Given the description of an element on the screen output the (x, y) to click on. 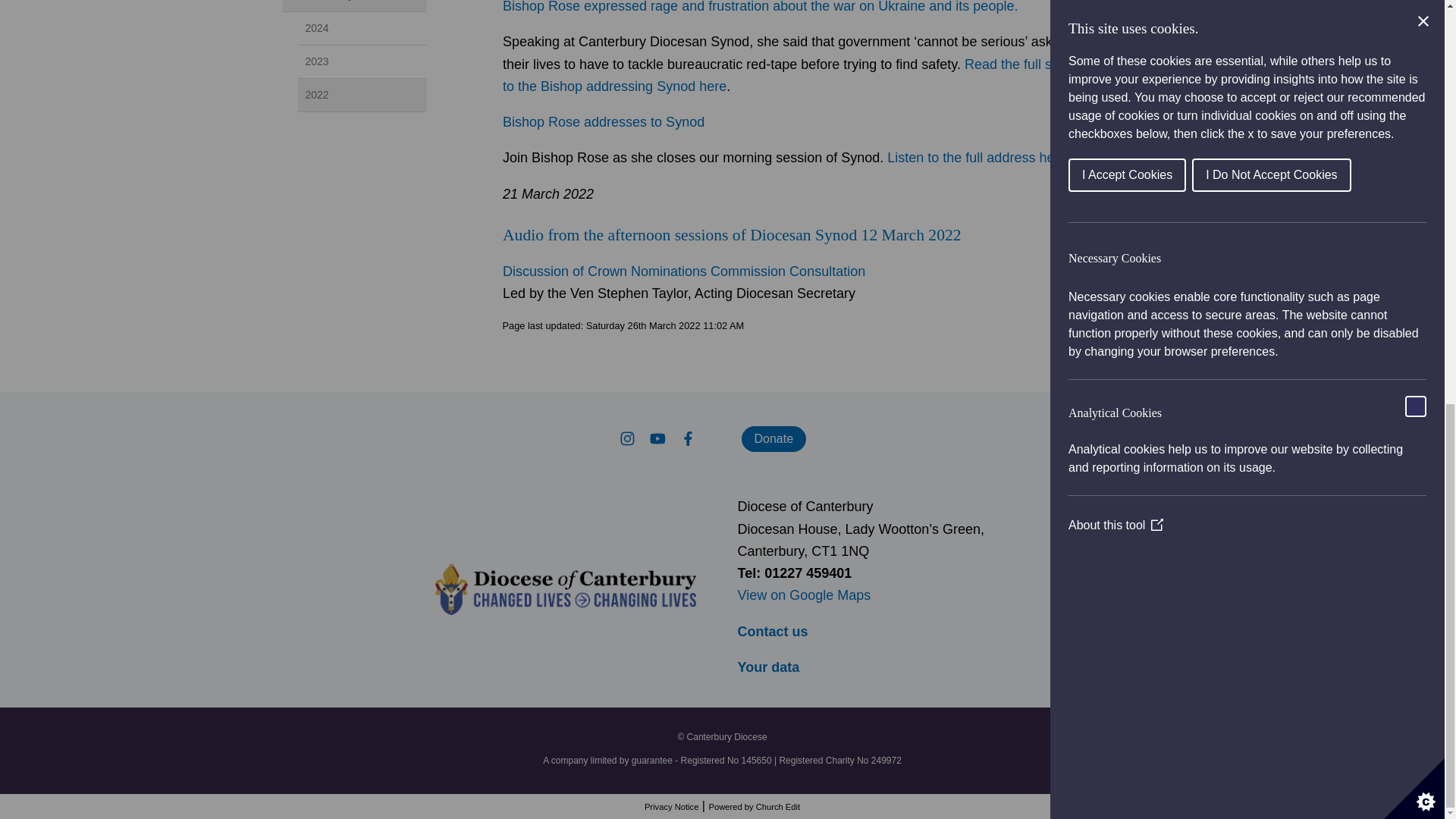
Diocese of Canterbury Logo (565, 589)
